Given the description of an element on the screen output the (x, y) to click on. 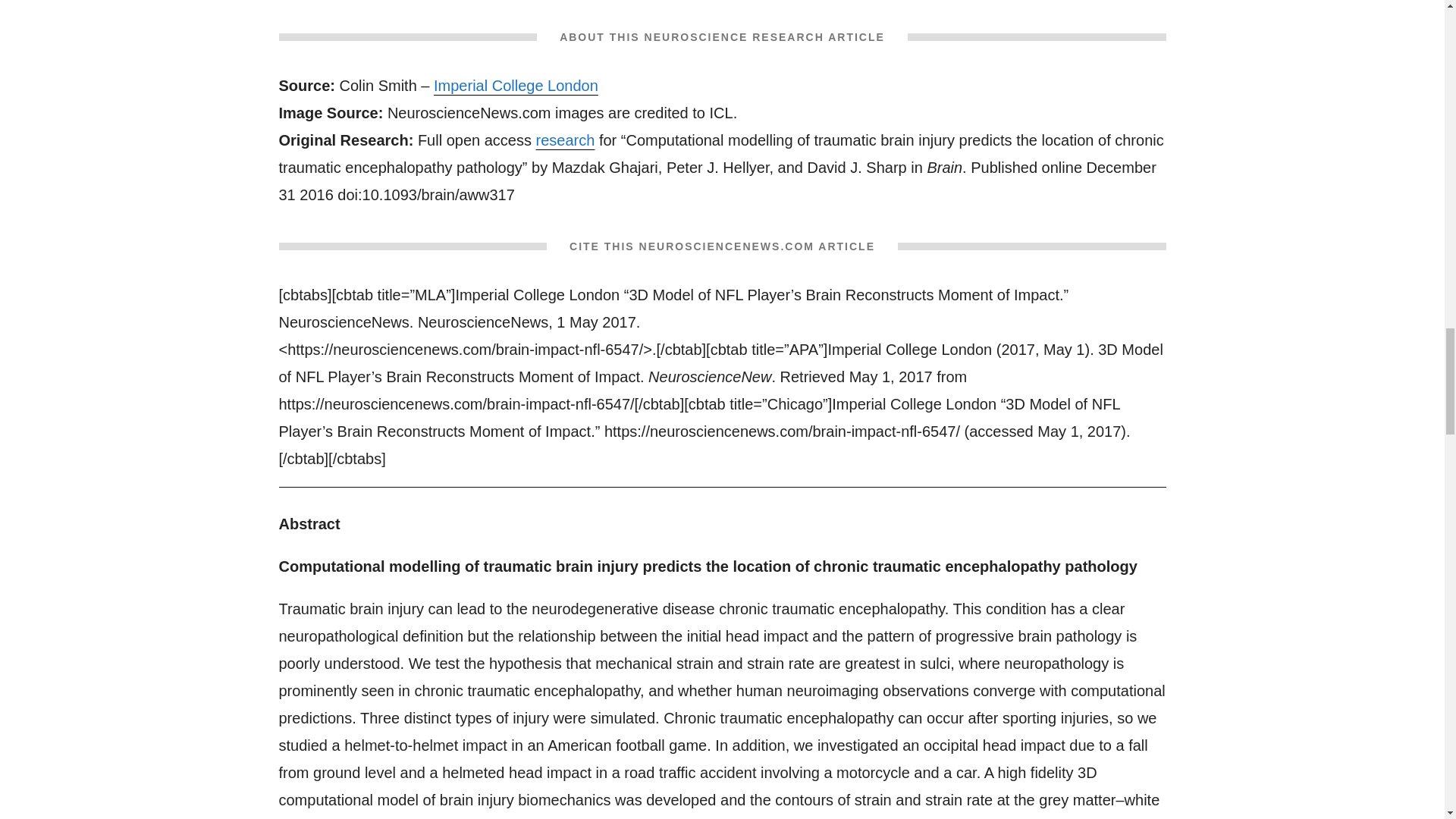
research (565, 139)
Imperial College London (515, 85)
